Given the description of an element on the screen output the (x, y) to click on. 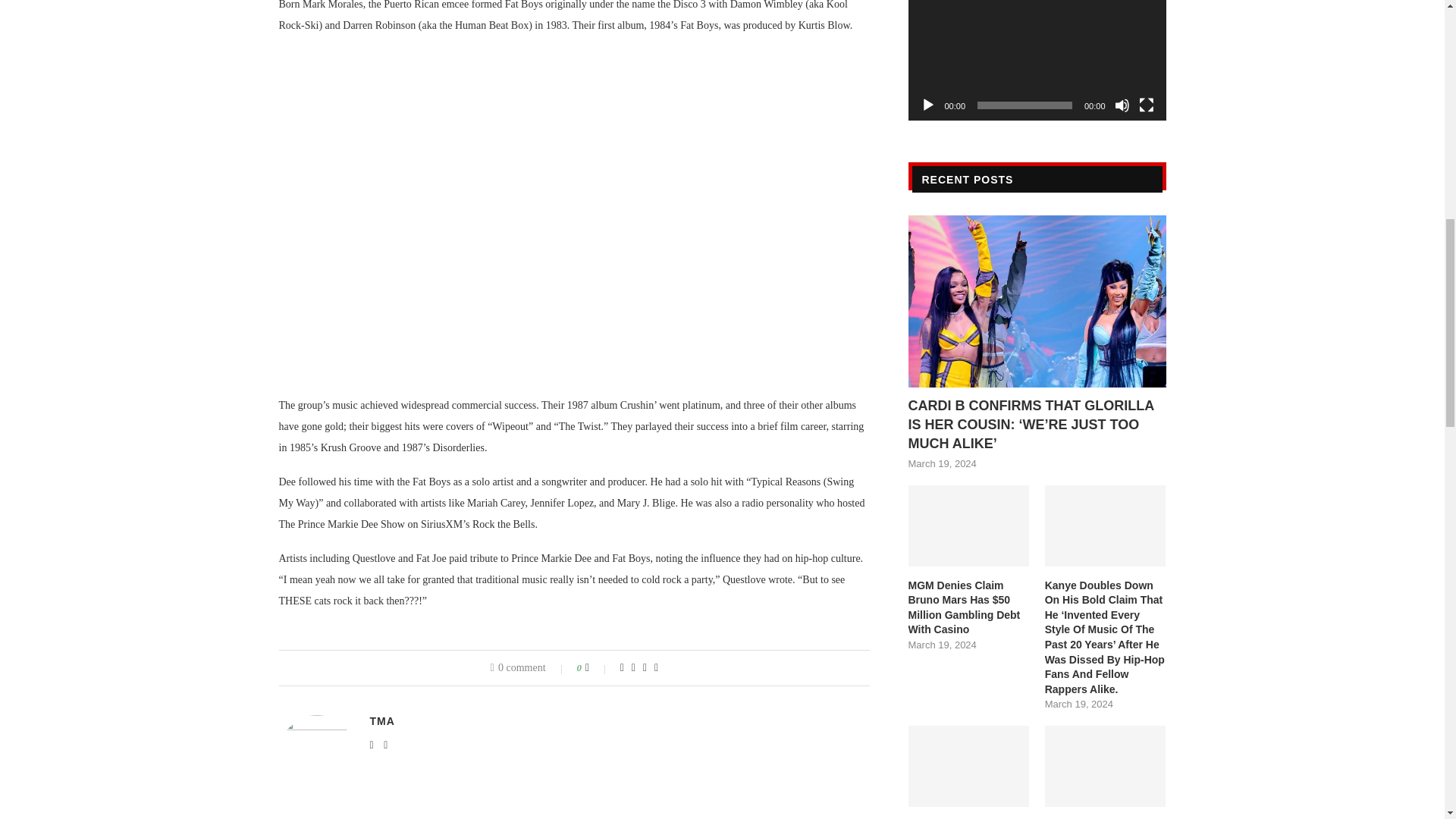
Posts by TMA (381, 720)
Like (597, 666)
